Given the description of an element on the screen output the (x, y) to click on. 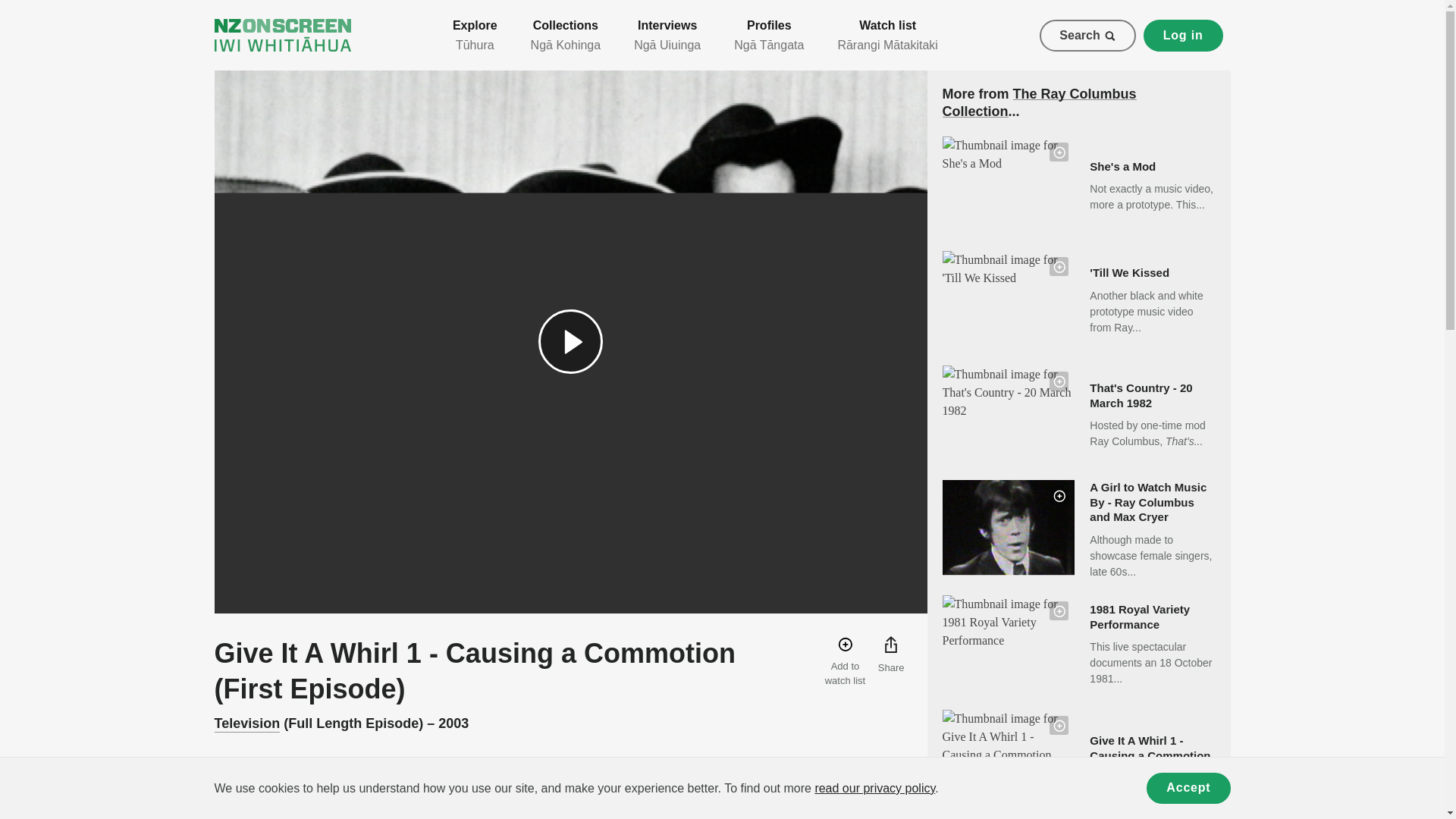
Television (246, 723)
Log in (1182, 35)
NZ On Screen (282, 34)
Background (375, 782)
Quotes (446, 782)
Awards (505, 782)
Search NZ On Screen (1087, 35)
Search (1087, 35)
Credits (303, 782)
read our privacy policy (873, 788)
